Given the description of an element on the screen output the (x, y) to click on. 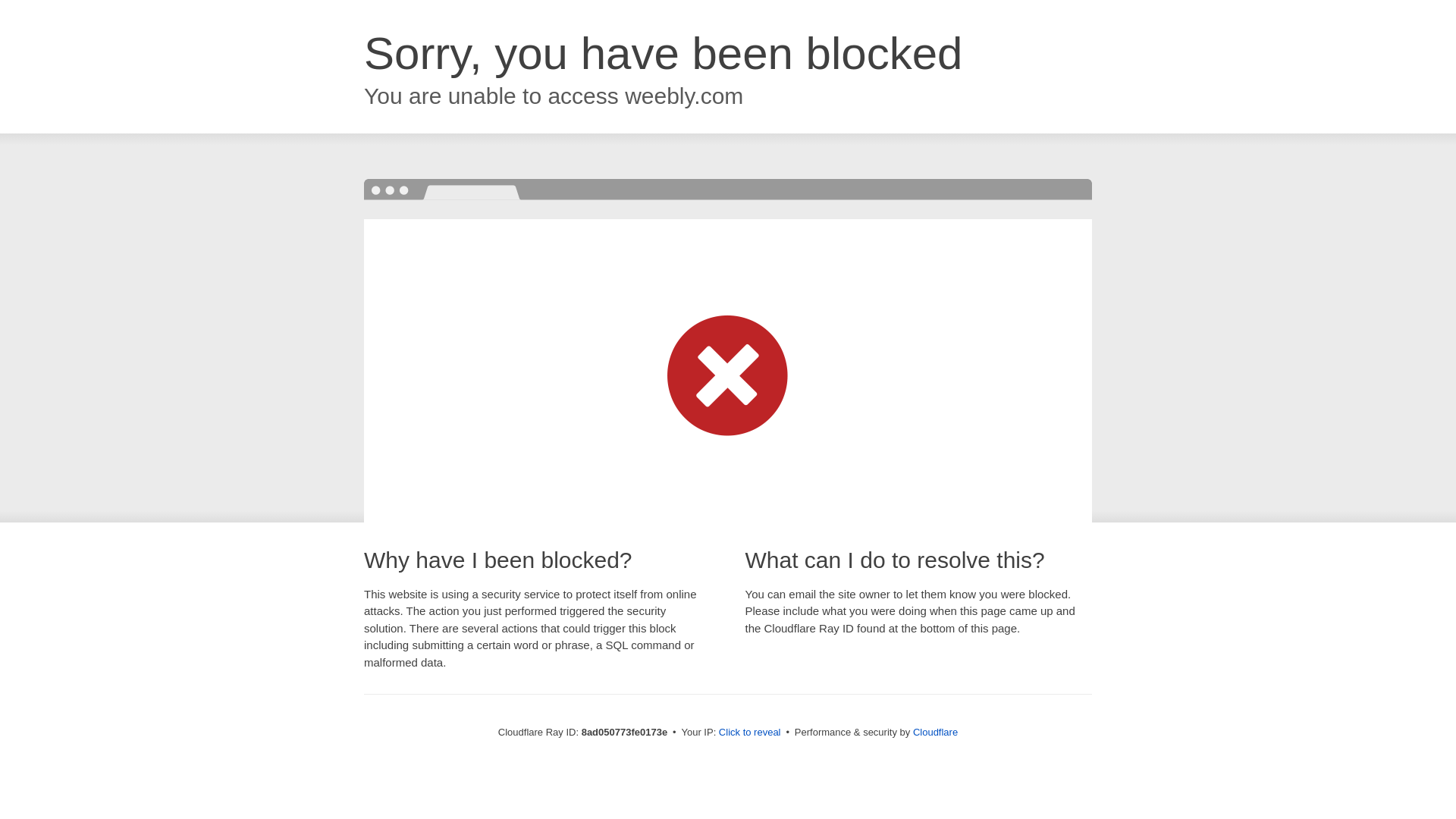
Click to reveal (749, 732)
Cloudflare (935, 731)
